Given the description of an element on the screen output the (x, y) to click on. 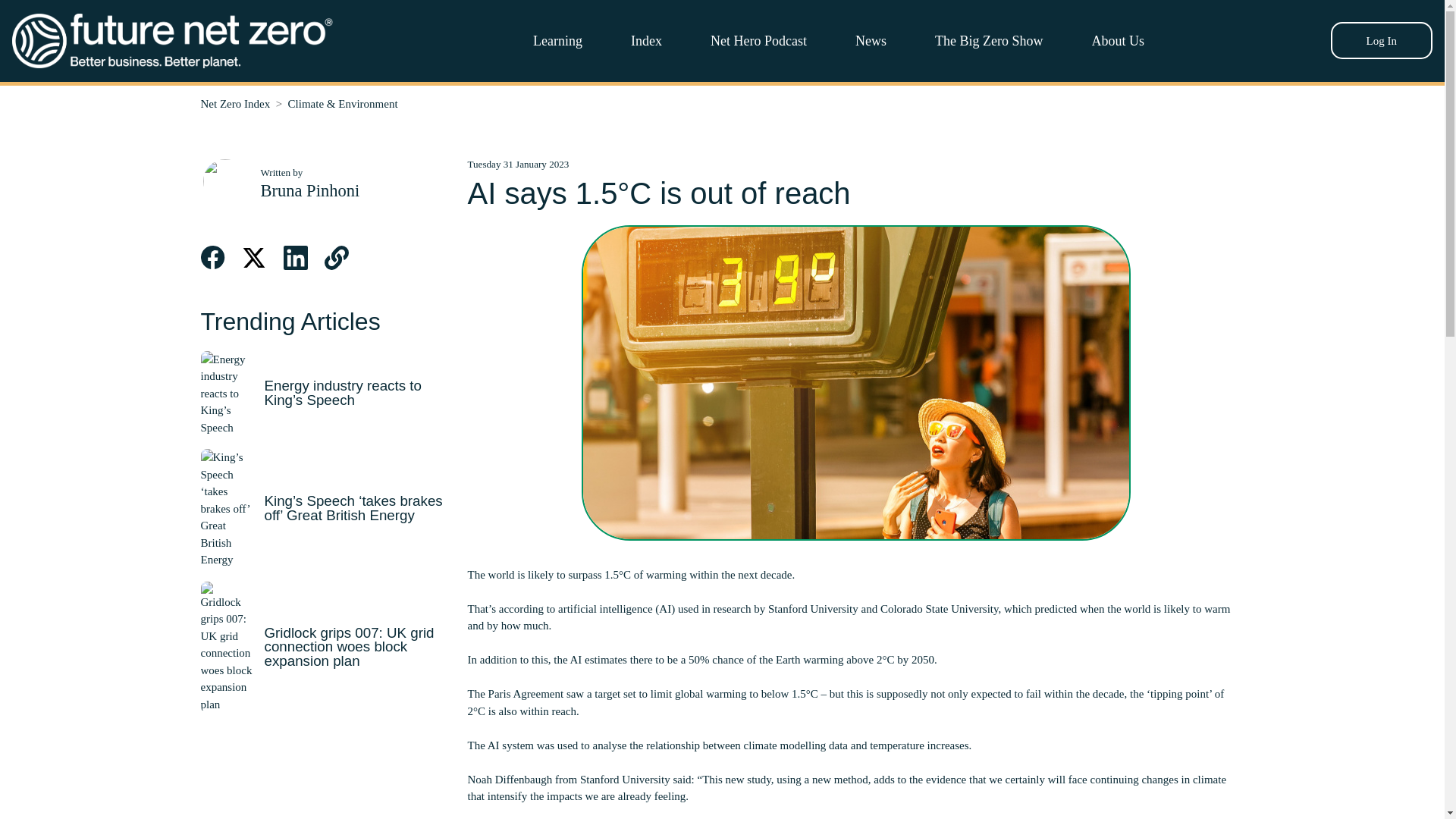
Share on Facebook (212, 257)
Earth (787, 659)
Share on LinkedIn (295, 257)
About Us (1118, 40)
The Big Zero Show (988, 40)
Log In (1381, 40)
Net Zero Index (234, 102)
Share on Twitter (253, 257)
